Given the description of an element on the screen output the (x, y) to click on. 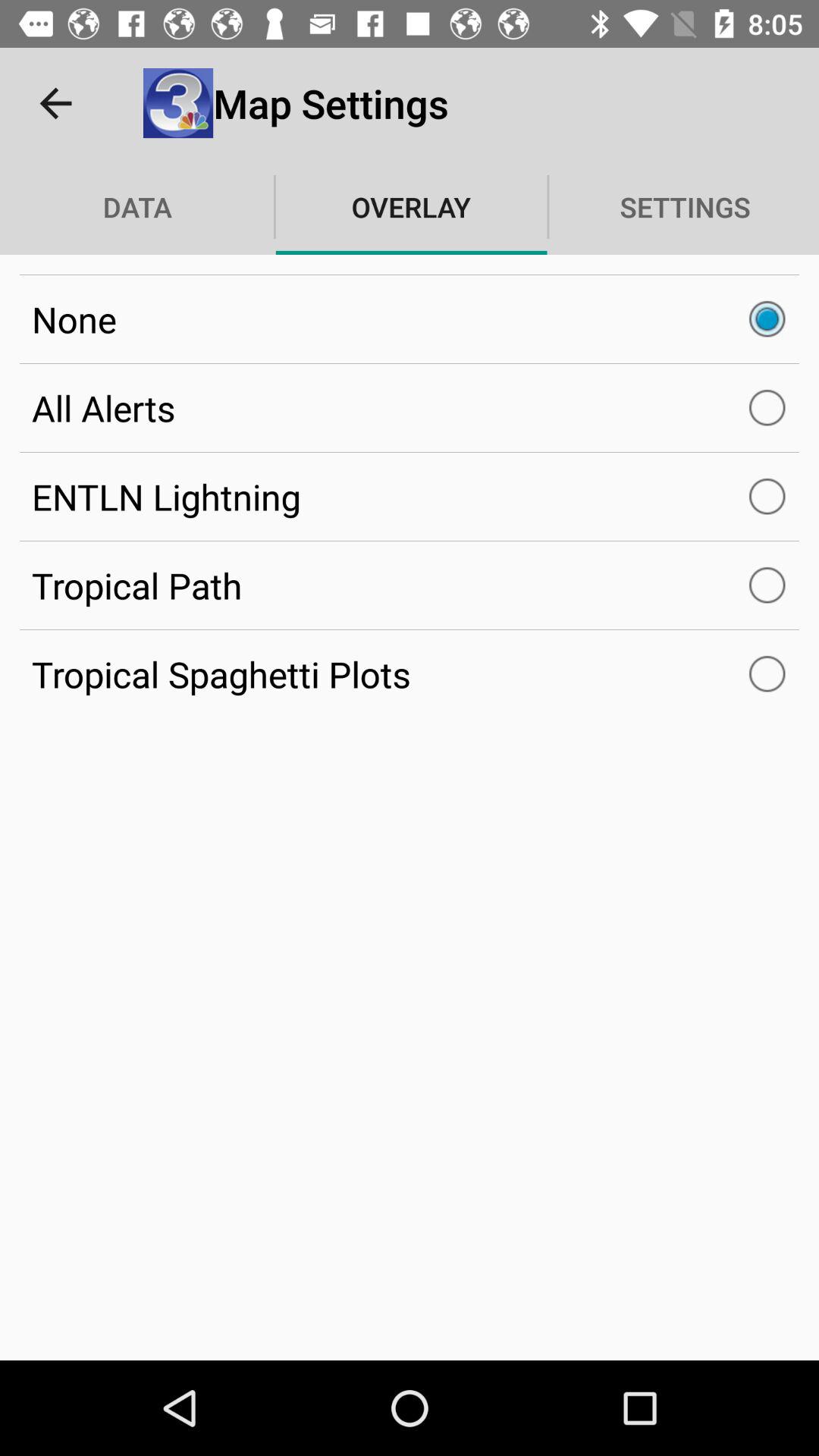
swipe until the tropical spaghetti plots item (409, 674)
